Given the description of an element on the screen output the (x, y) to click on. 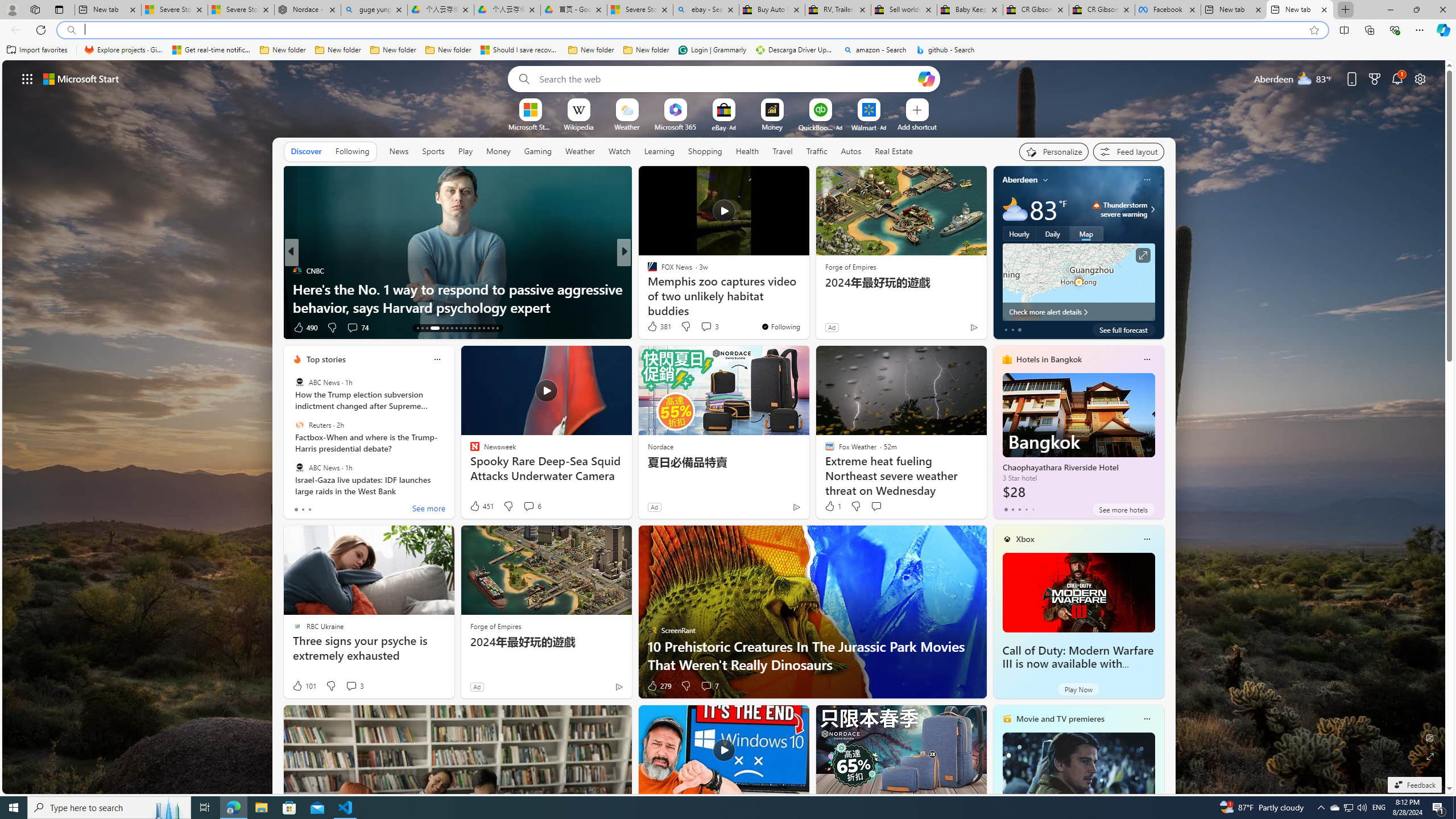
AutomationID: tab-28 (492, 328)
AutomationID: tab-22 (465, 328)
Descarga Driver Updater (794, 49)
Add a site (916, 126)
Daily (1052, 233)
How to Use a Monitor With Your Closed Laptop (807, 307)
Health (746, 151)
82 Like (652, 327)
